Given the description of an element on the screen output the (x, y) to click on. 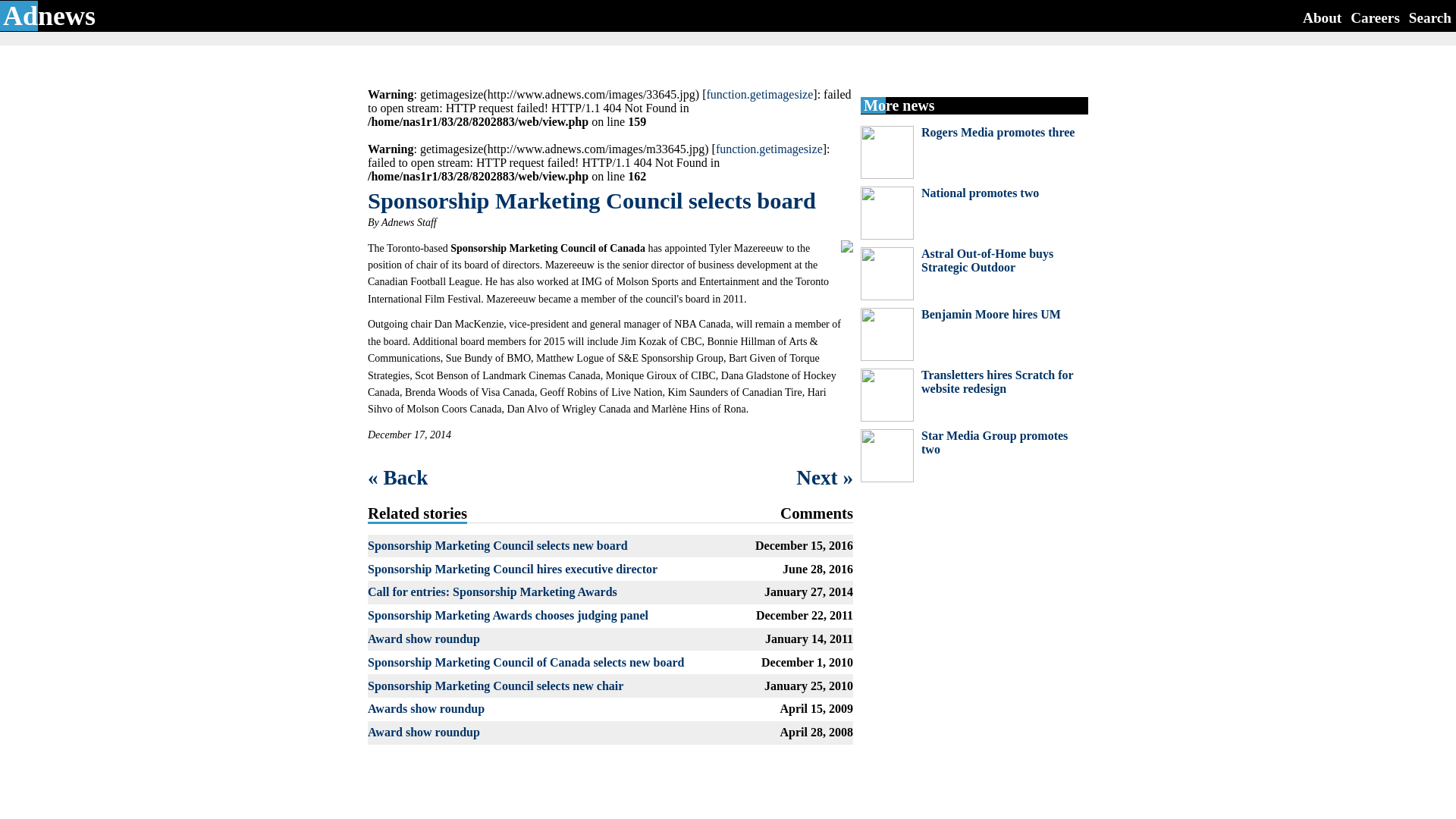
Call for entries: Sponsorship Marketing Awards (492, 591)
Sponsorship Marketing Council selects new board (497, 545)
function.getimagesize (759, 93)
Sponsorship Marketing Council selects new chair (495, 685)
National promotes two (980, 192)
Sponsorship Marketing Council of Canada selects new board (526, 662)
Award show roundup (424, 638)
Star Media Group promotes two (994, 442)
Benjamin Moore hires UM (991, 314)
Sponsorship Marketing Council hires executive director (513, 568)
Award show roundup (424, 731)
About (1321, 17)
Transletters hires Scratch for website redesign (997, 381)
Careers (1375, 17)
Astral Out-of-Home buys Strategic Outdoor (986, 260)
